Given the description of an element on the screen output the (x, y) to click on. 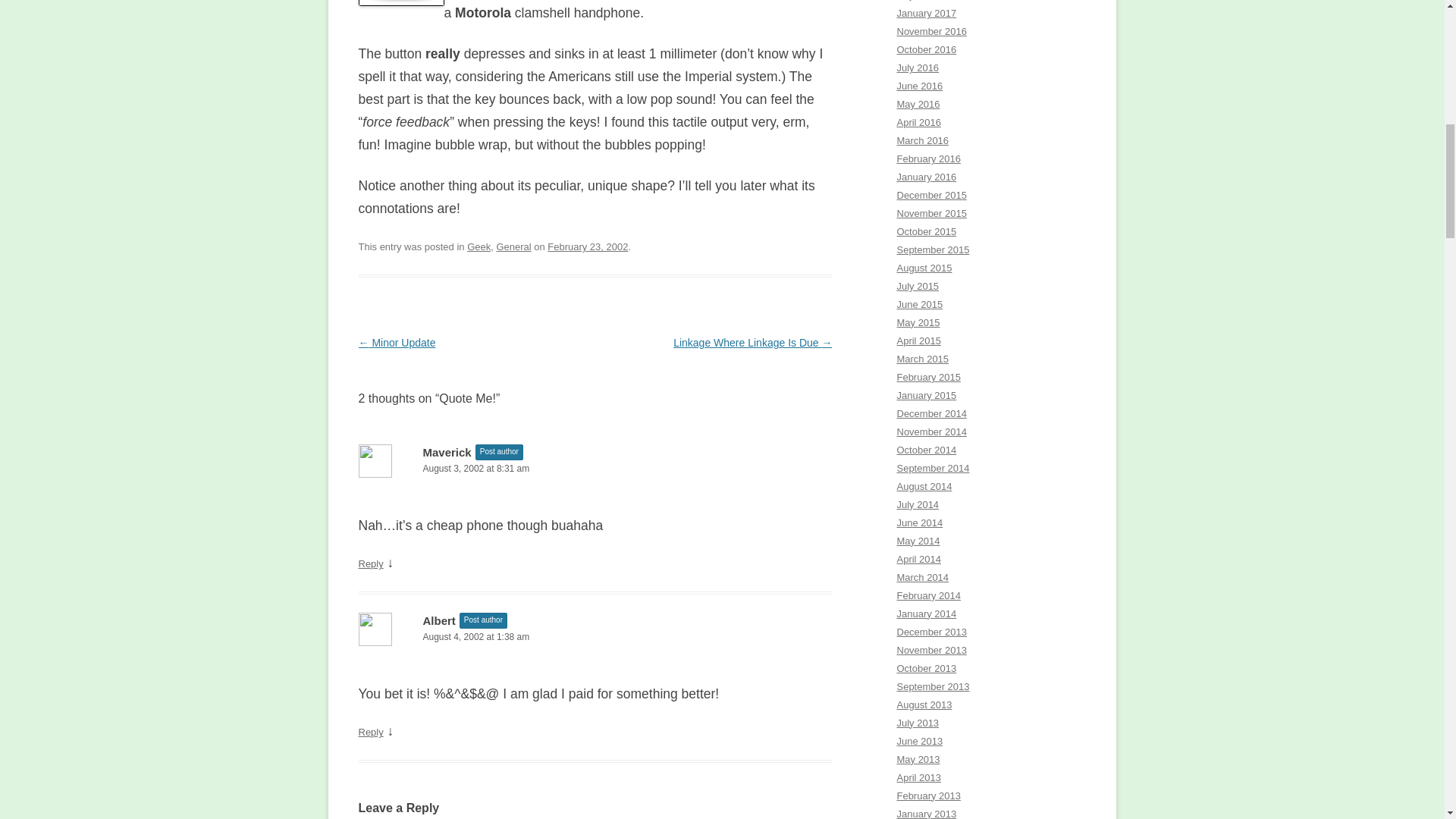
General (513, 246)
August 3, 2002 at 8:31 am (594, 468)
February 23, 2002 (587, 246)
Geek (478, 246)
January 2017 (926, 12)
July 2017 (917, 0)
August 4, 2002 at 1:38 am (594, 637)
Reply (370, 731)
Reply (370, 563)
12:17 pm (587, 246)
